Given the description of an element on the screen output the (x, y) to click on. 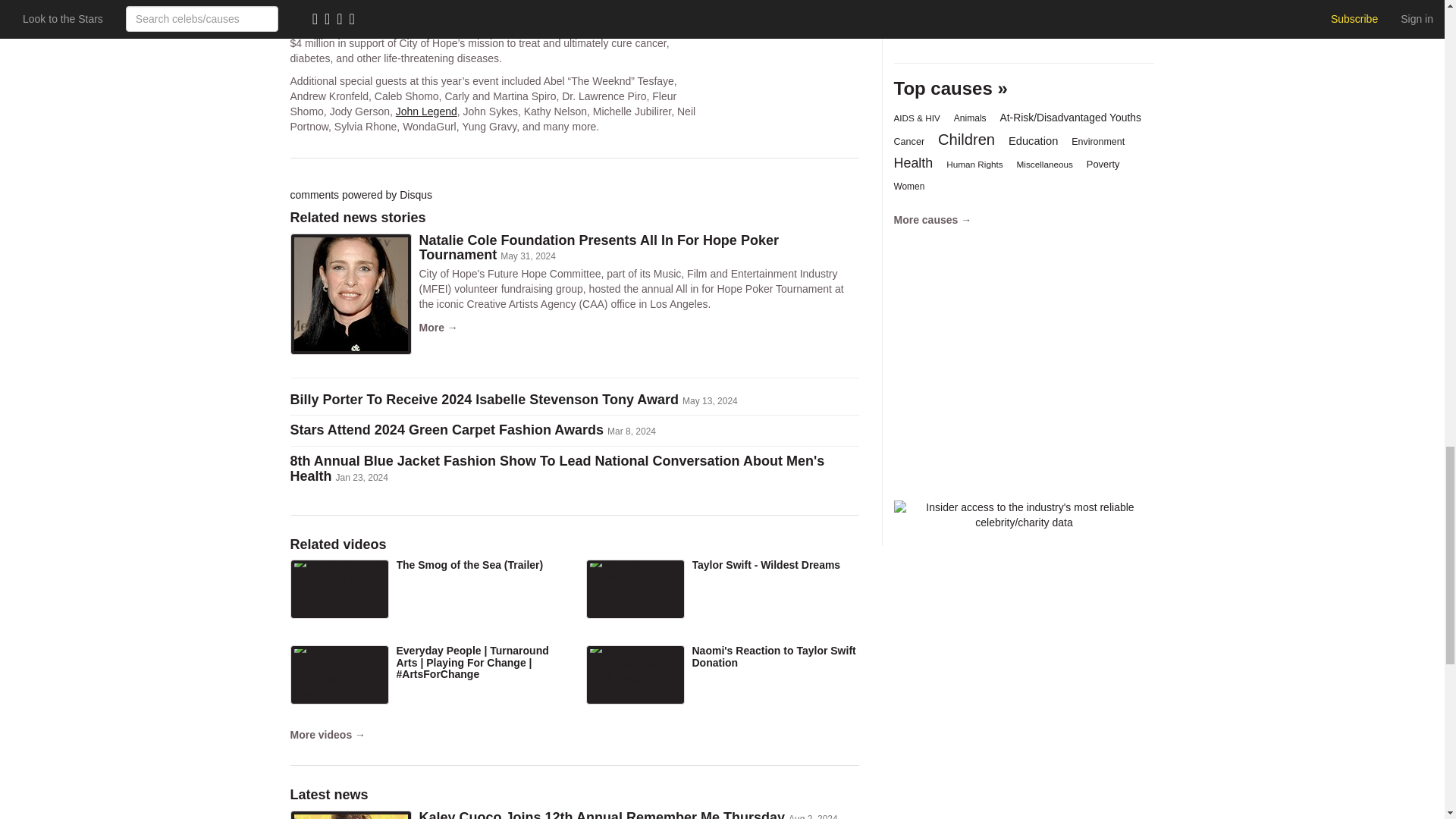
John Legend (426, 111)
